Given the description of an element on the screen output the (x, y) to click on. 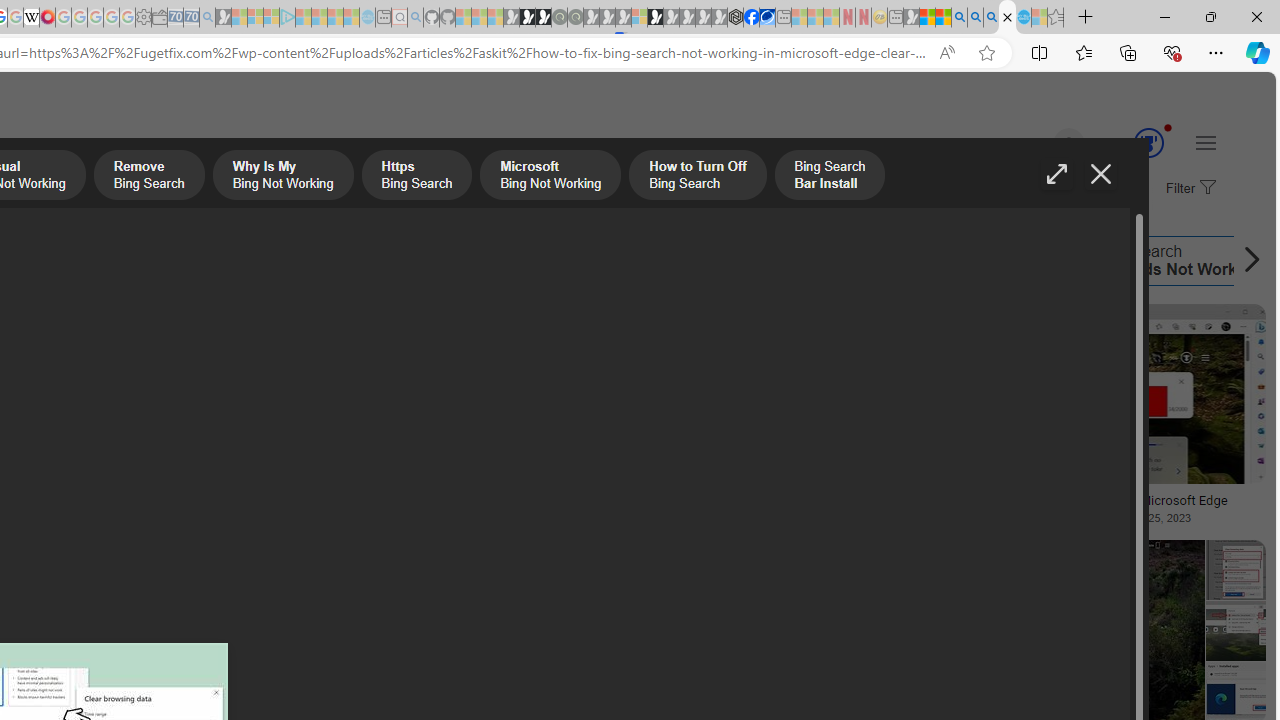
How to Get Rid of Bing Search (928, 260)
Image result for Bing Search Not Working (1235, 630)
Https Bing Search (416, 177)
MediaWiki (47, 17)
Microsoft Start Gaming - Sleeping (223, 17)
